Given the description of an element on the screen output the (x, y) to click on. 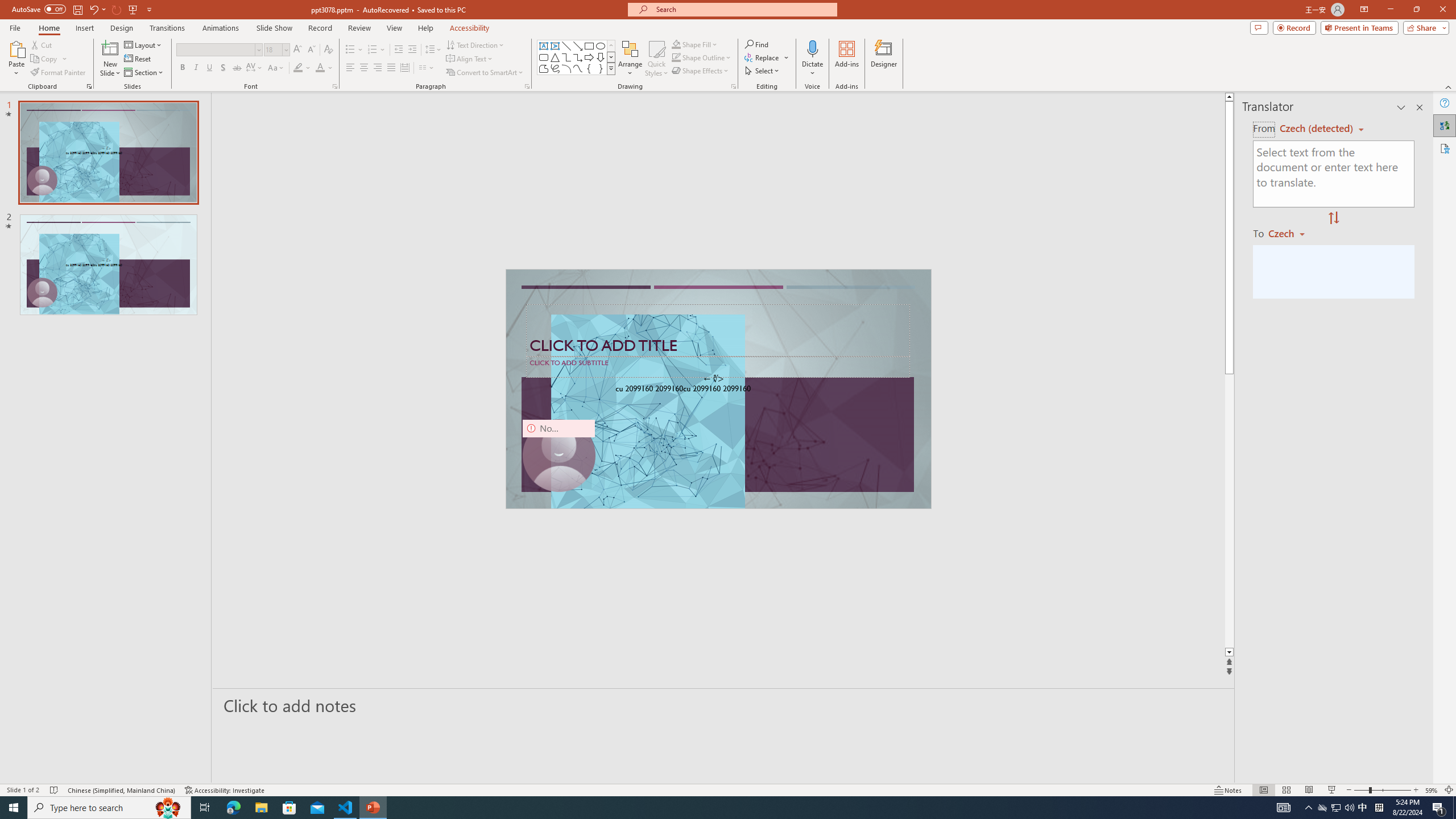
Zoom 59% (1431, 790)
Bold (182, 67)
